Given the description of an element on the screen output the (x, y) to click on. 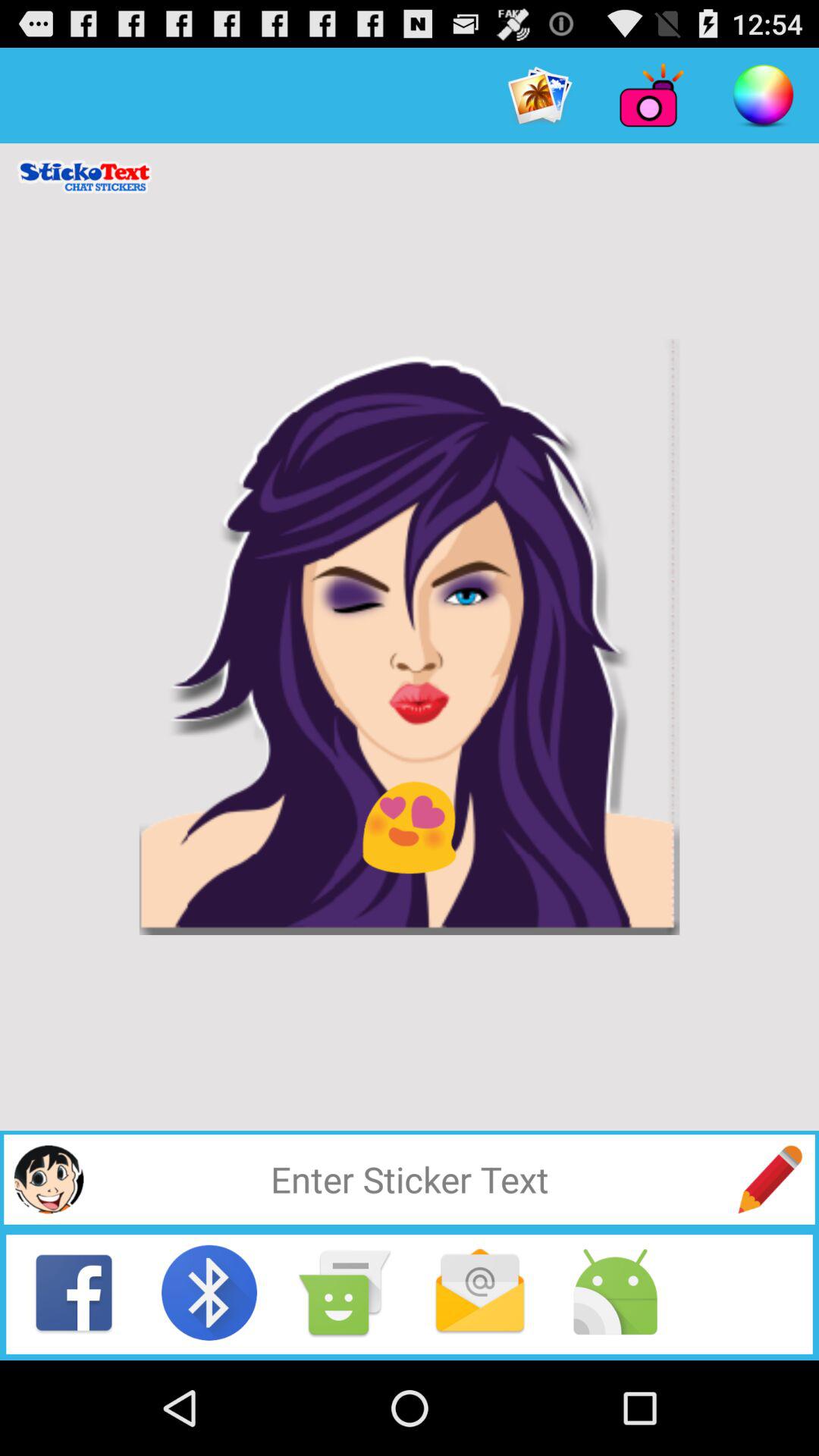
e-mail app (479, 1292)
